Given the description of an element on the screen output the (x, y) to click on. 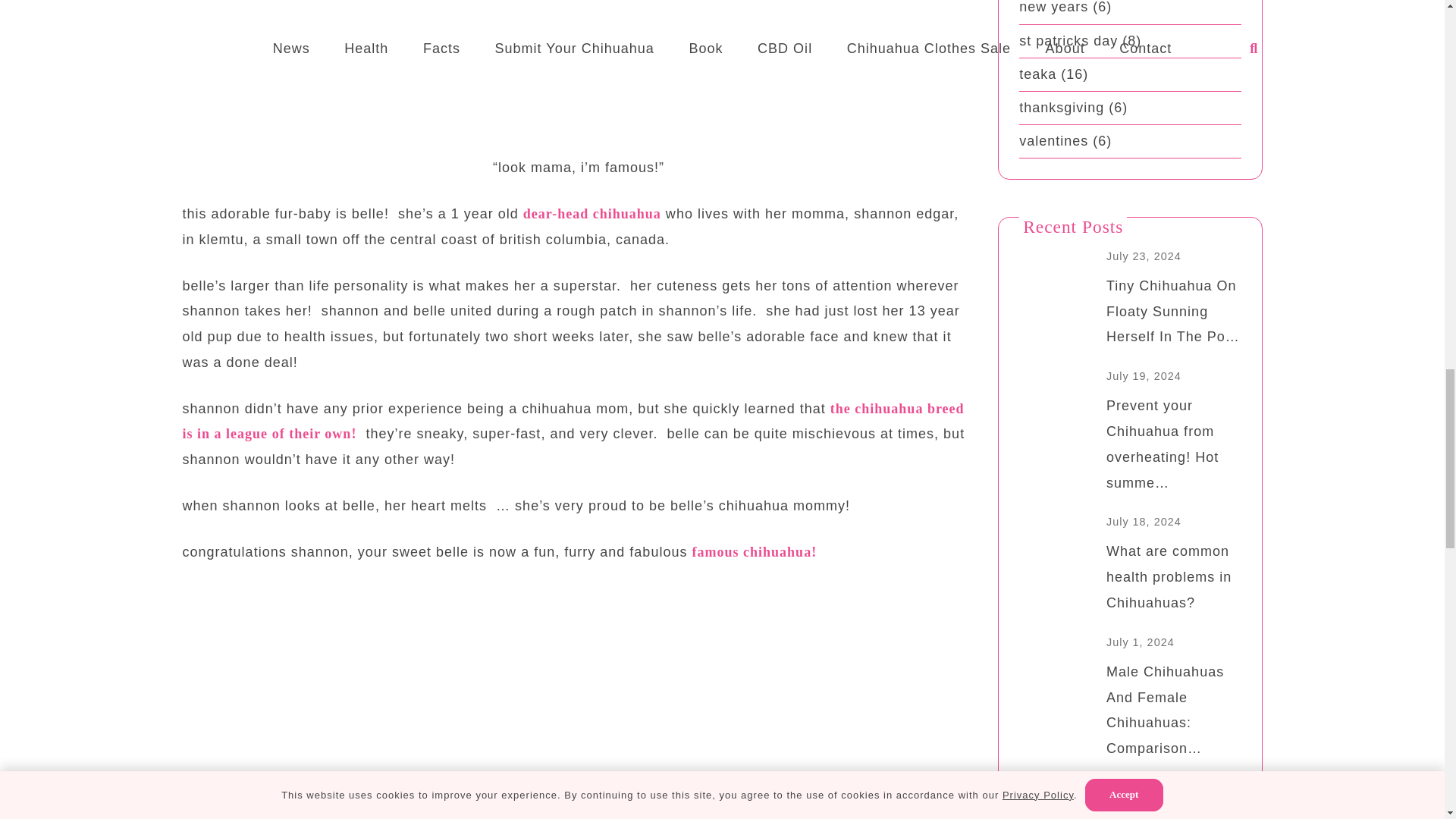
the chihuahua breed is in a league of their own! (572, 421)
dear-head chihuahua (591, 213)
famous chihuahua! (753, 551)
